Given the description of an element on the screen output the (x, y) to click on. 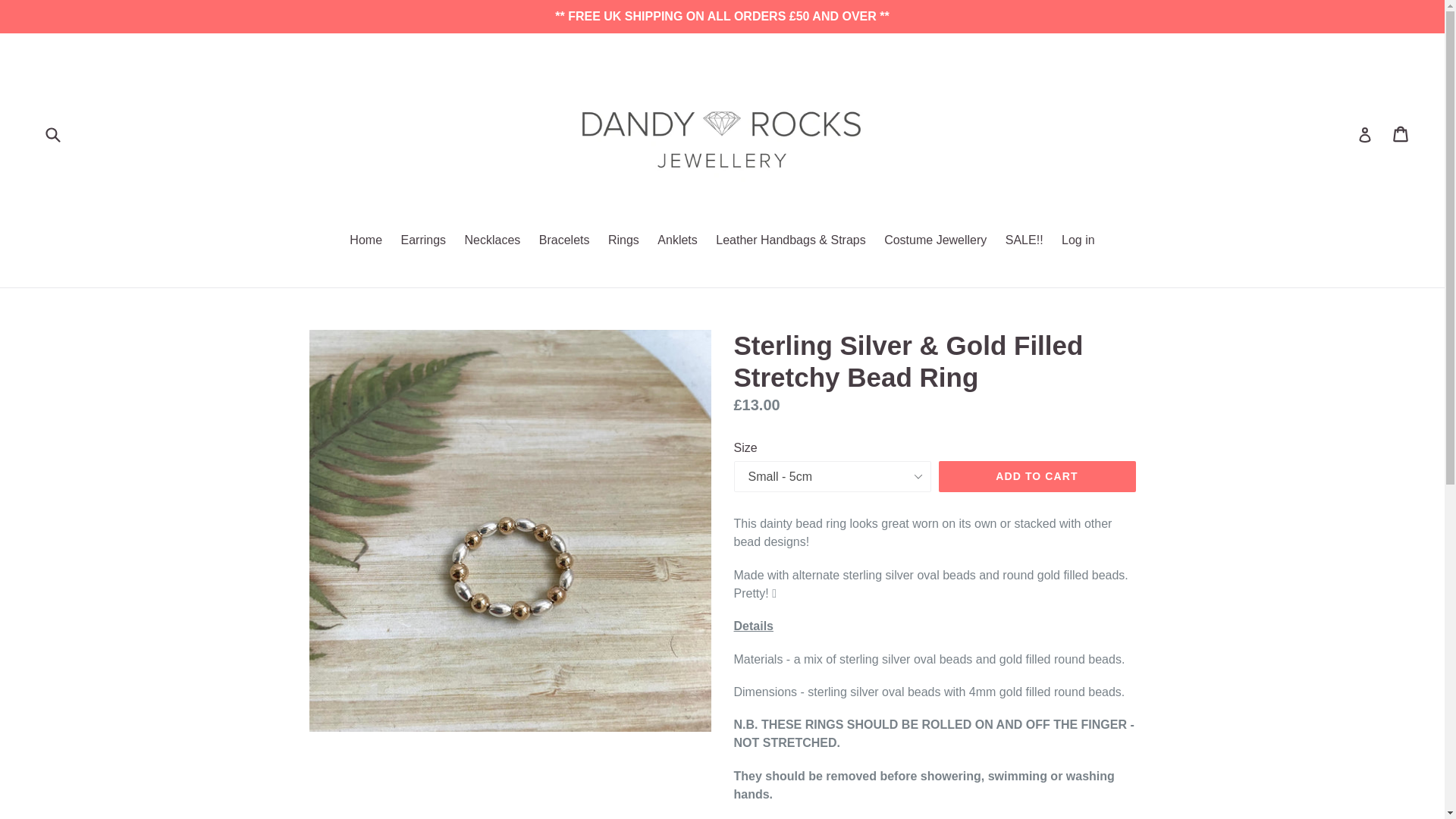
Necklaces (492, 240)
Home (366, 240)
Rings (622, 240)
SALE!! (1024, 240)
Bracelets (563, 240)
Log in (1078, 240)
Earrings (422, 240)
ADD TO CART (1037, 477)
Anklets (676, 240)
Costume Jewellery (935, 240)
